Given the description of an element on the screen output the (x, y) to click on. 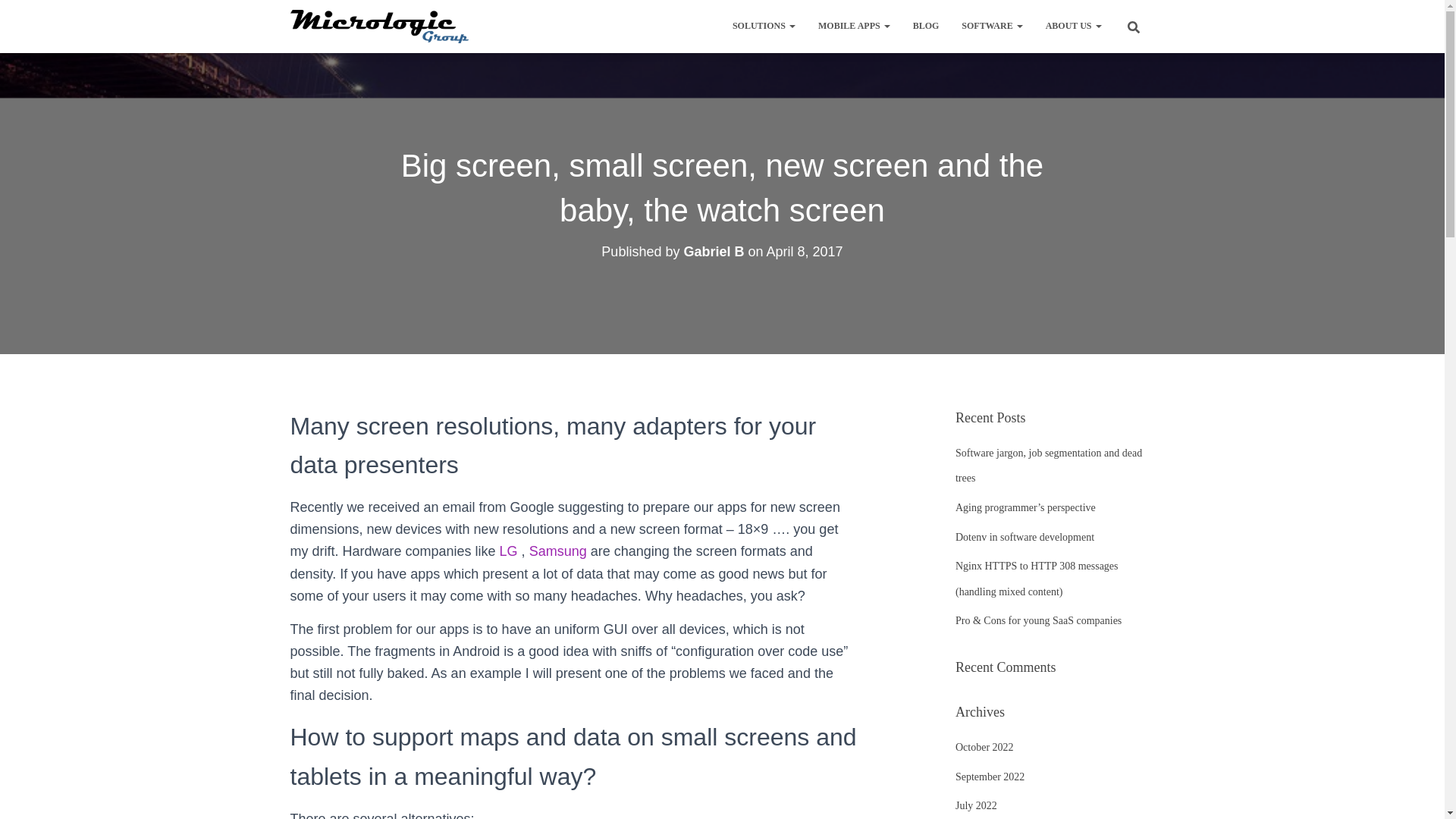
Dotenv in software development (1024, 536)
Search (16, 16)
LG (508, 550)
SOFTWARE (991, 26)
MOBILE APPS (853, 26)
October 2022 (984, 747)
Samsung (557, 550)
Blog (925, 26)
ABOUT US (1073, 26)
BLOG (925, 26)
Gabriel B (713, 251)
Solutions (763, 26)
SOLUTIONS (763, 26)
Software (991, 26)
September 2022 (990, 776)
